Given the description of an element on the screen output the (x, y) to click on. 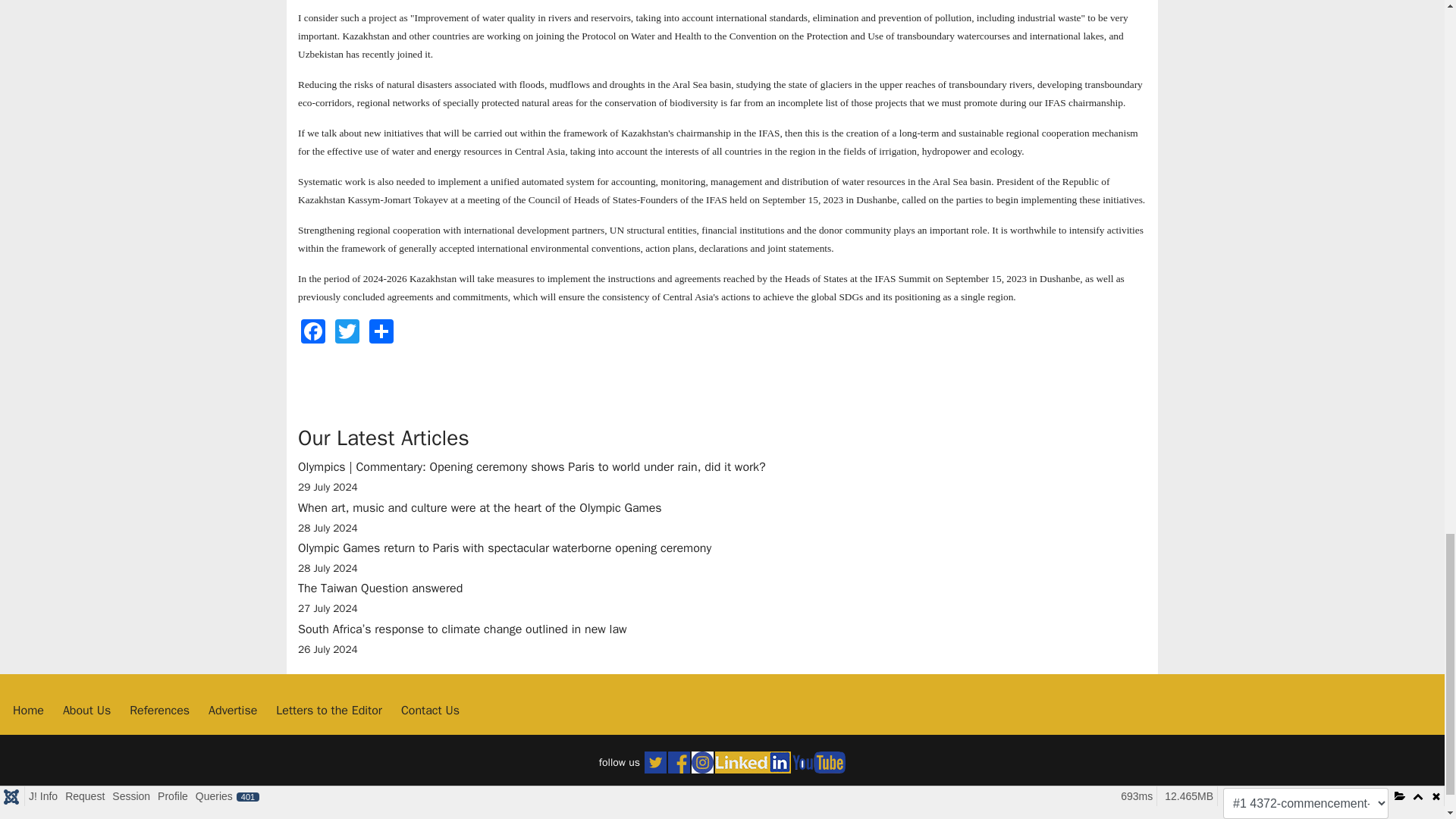
Twitter (722, 598)
About Us (346, 330)
Letters to the Editor (86, 710)
Advertise (328, 710)
Home (232, 710)
References (28, 710)
Contact Us (159, 710)
Facebook (430, 710)
Share (313, 330)
